Given the description of an element on the screen output the (x, y) to click on. 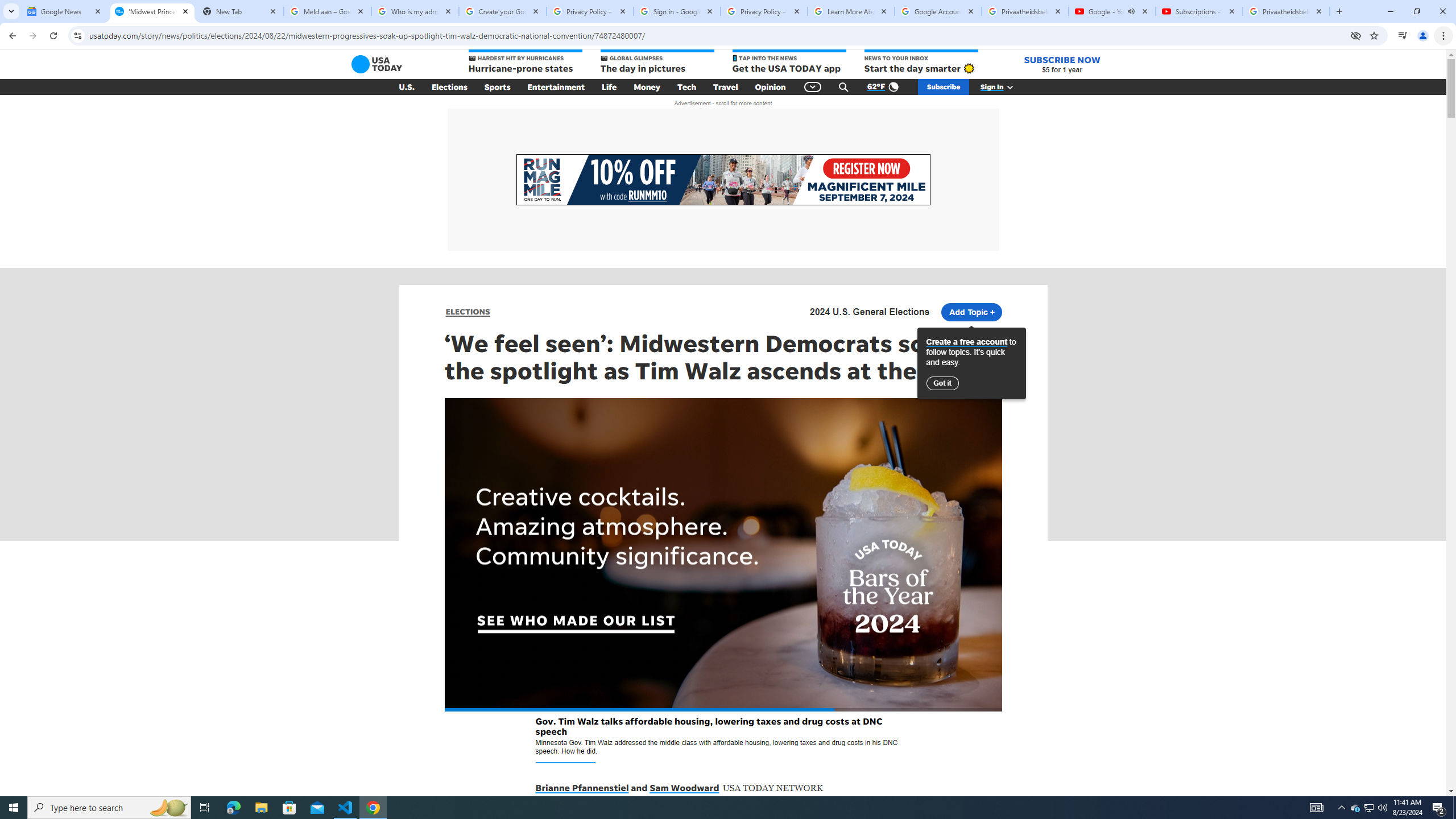
Search tabs (10, 11)
Global Navigation (812, 87)
Forward (32, 35)
Sam Woodward (684, 788)
Minimize (1390, 11)
Subscriptions - YouTube (1198, 11)
Who is my administrator? - Google Account Help (415, 11)
USA TODAY (376, 64)
Money (646, 87)
